Given the description of an element on the screen output the (x, y) to click on. 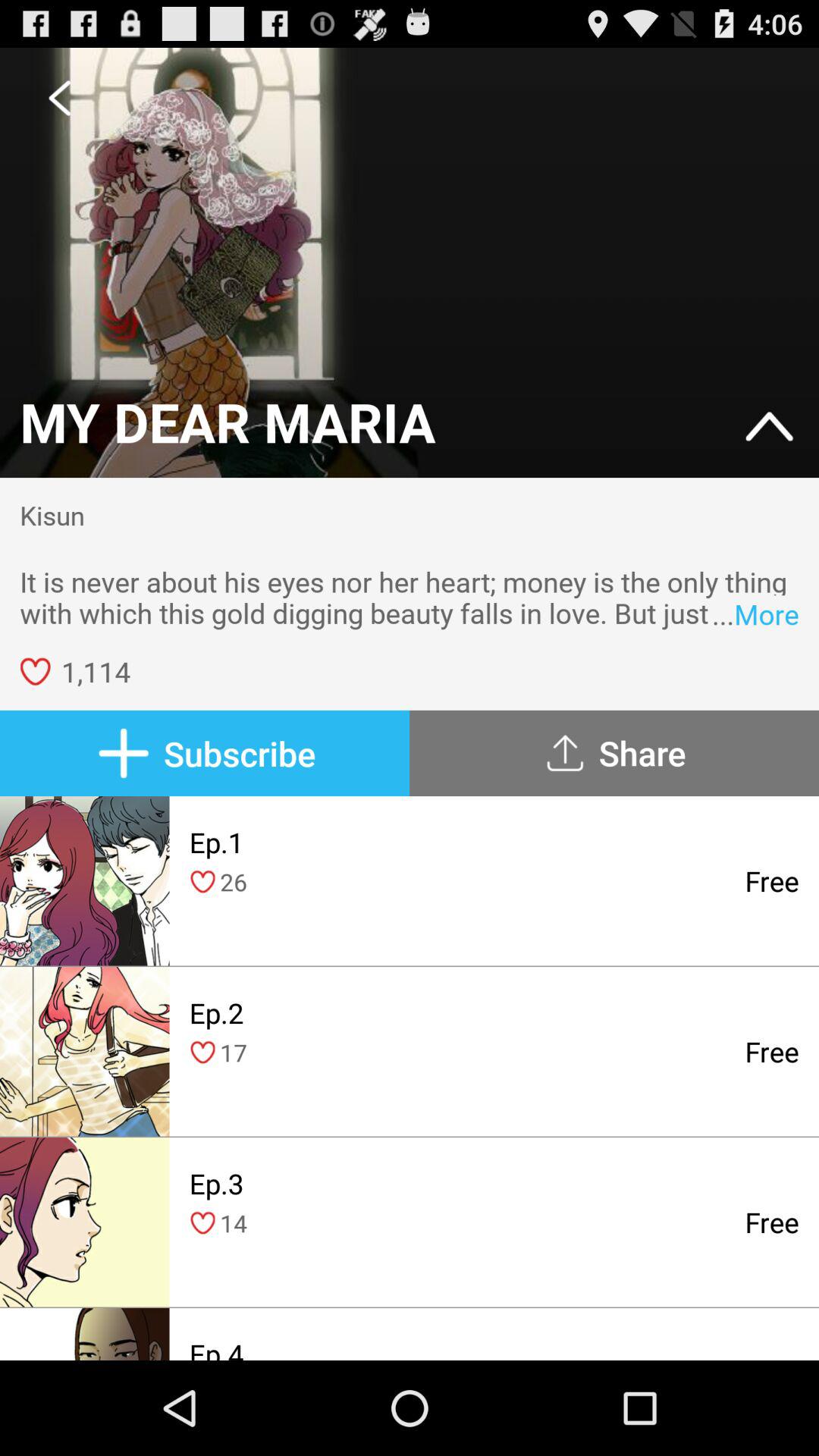
turn on the icon to the right of the subscribe (614, 753)
